Given the description of an element on the screen output the (x, y) to click on. 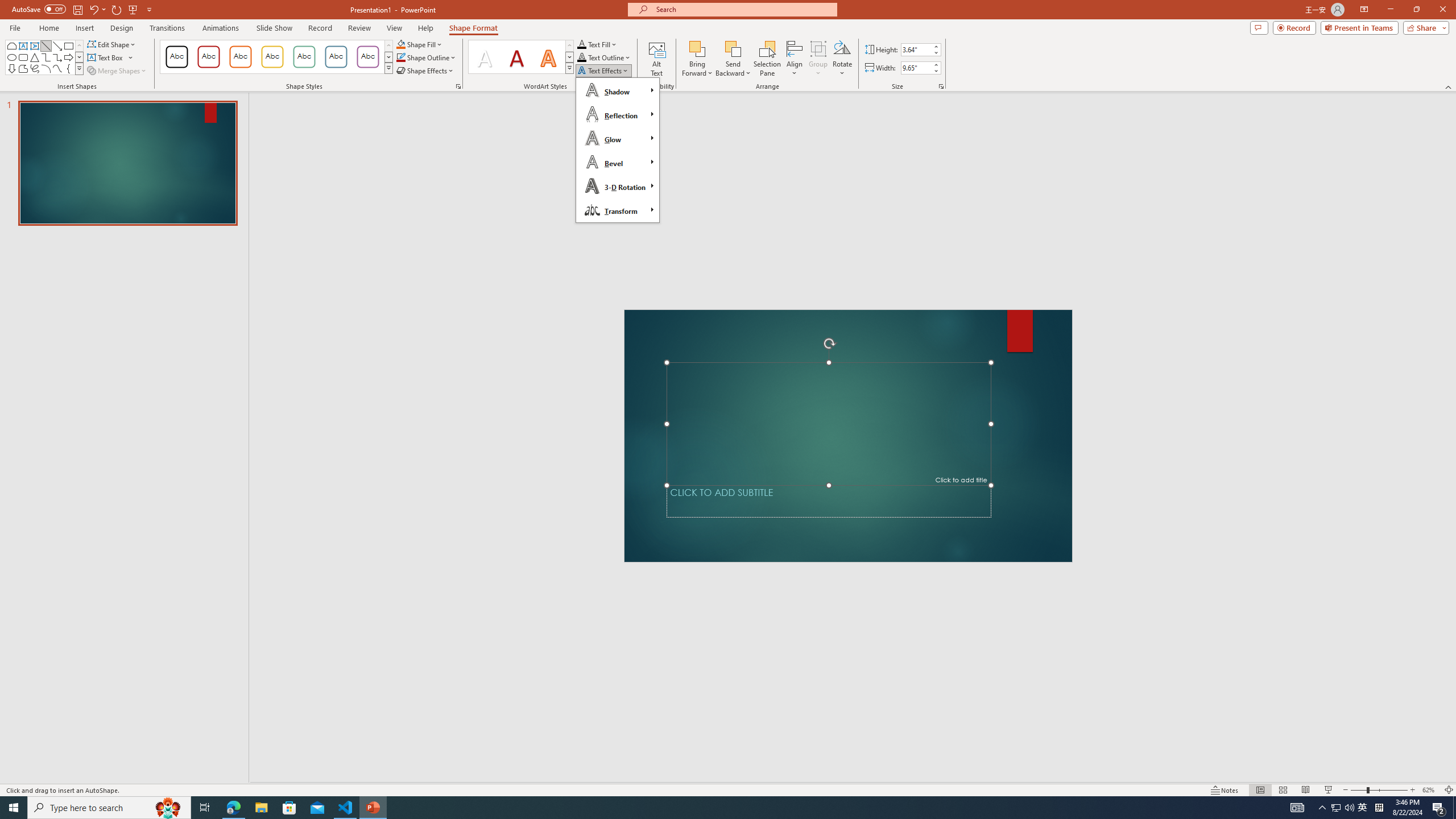
Shape Width (915, 67)
Text Outline RGB(0, 0, 0) (581, 56)
Size and Position... (941, 85)
